Given the description of an element on the screen output the (x, y) to click on. 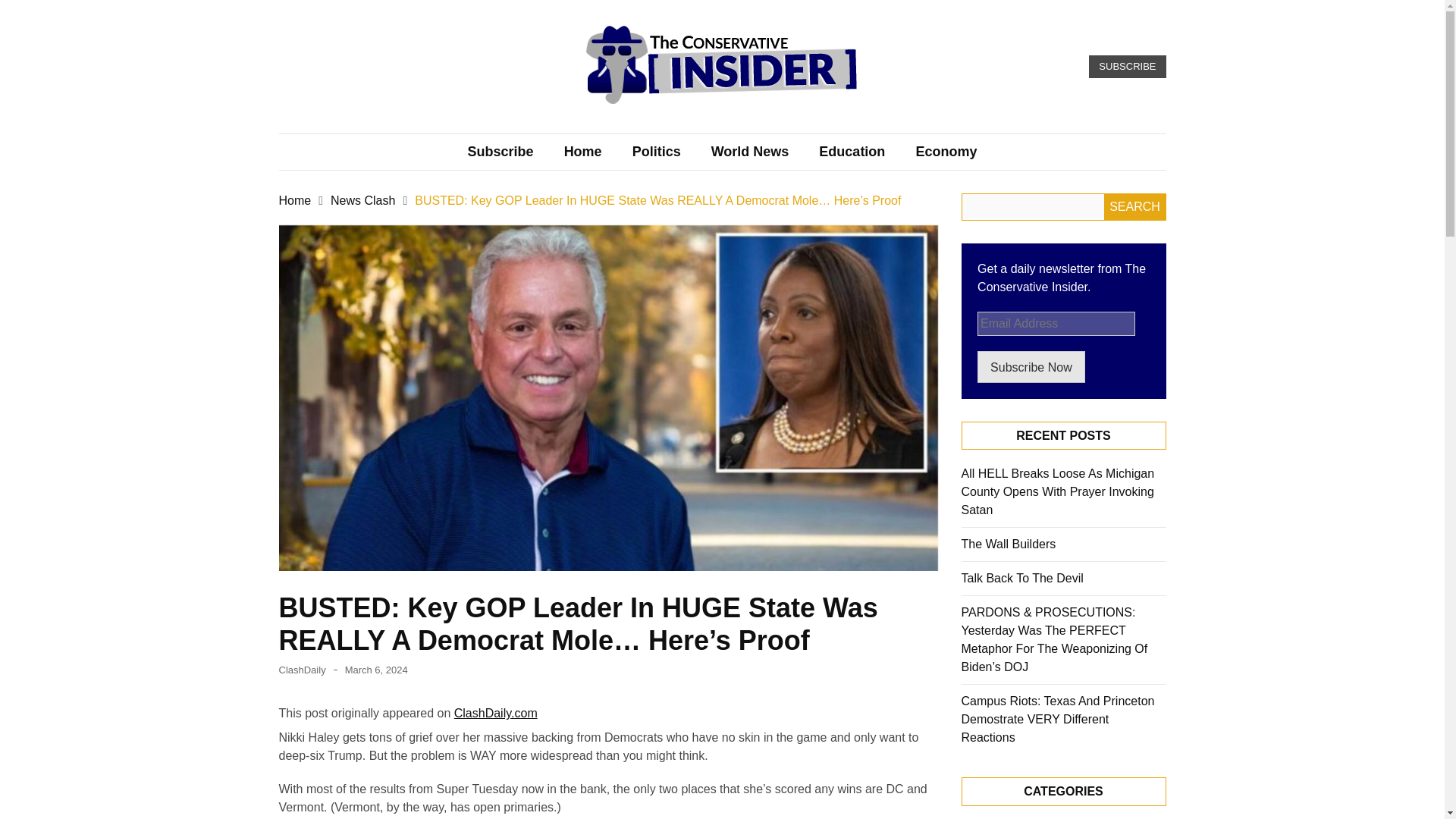
Home (582, 151)
SUBSCRIBE (1127, 66)
World News (750, 151)
ClashDaily.com (495, 712)
The Conservative Insider (668, 126)
March 6, 2024 (376, 669)
Education (851, 151)
News Clash (362, 200)
Subscribe (500, 151)
Home (295, 200)
